Given the description of an element on the screen output the (x, y) to click on. 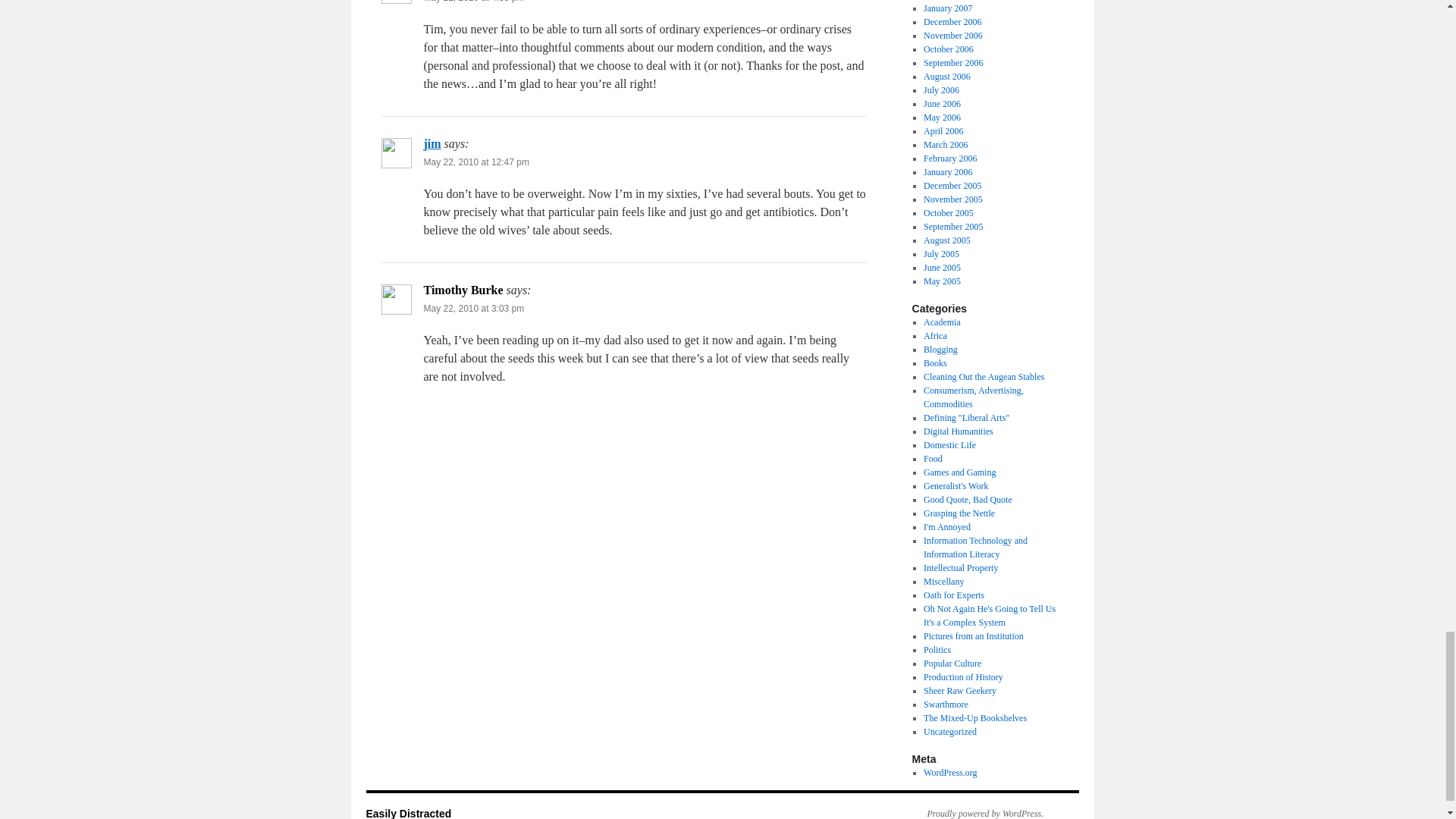
jim (432, 143)
May 22, 2010 at 3:03 pm (473, 308)
May 21, 2010 at 4:33 pm (473, 1)
May 22, 2010 at 12:47 pm (475, 162)
